Given the description of an element on the screen output the (x, y) to click on. 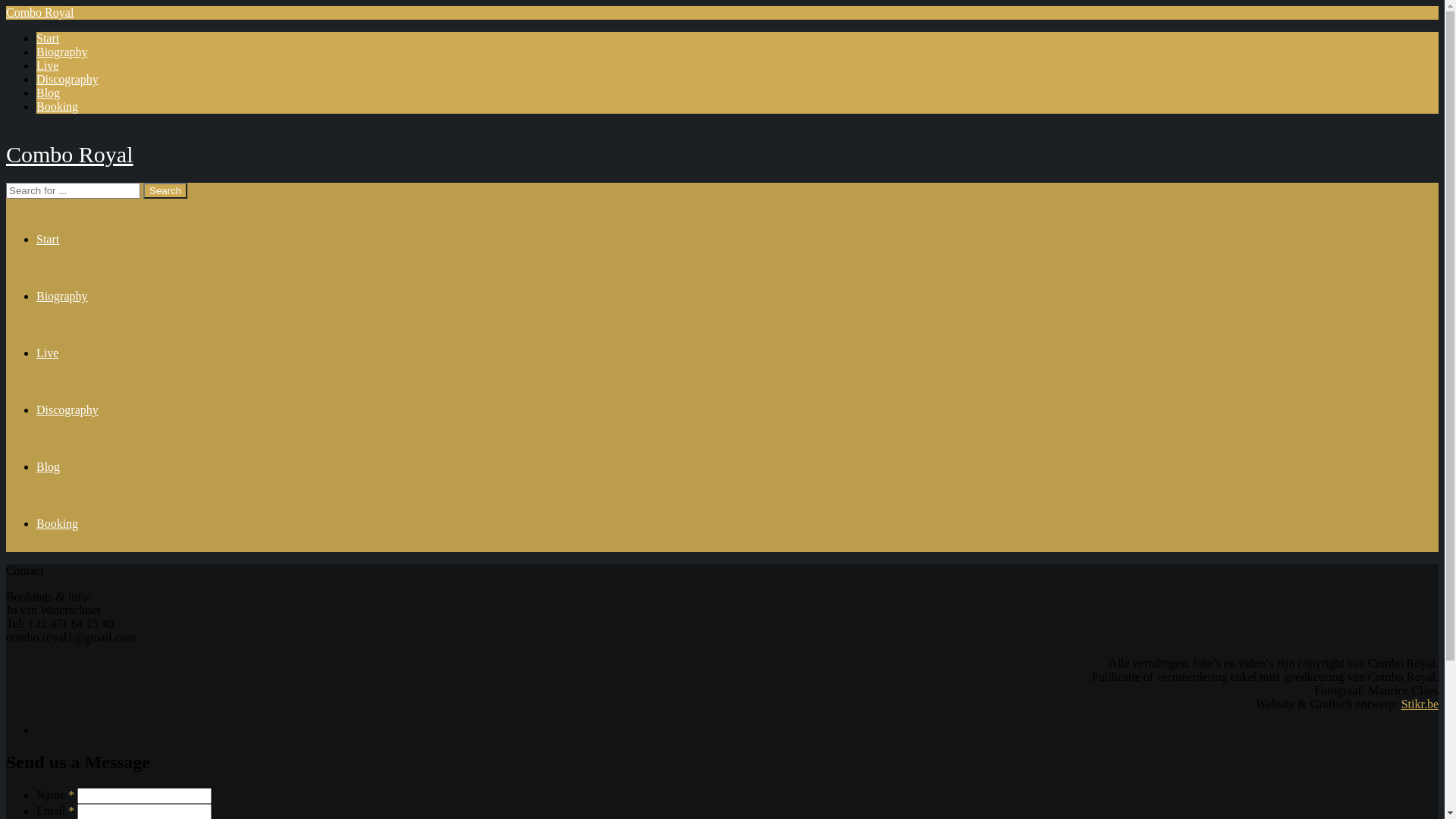
Live Element type: text (47, 352)
Discography Element type: text (67, 78)
Start Element type: text (47, 37)
Blog Element type: text (47, 466)
Combo Royal Element type: text (69, 153)
Booking Element type: text (57, 523)
Search Element type: text (165, 190)
Stikr.be Element type: text (1419, 703)
Search for: Element type: hover (73, 190)
Start Element type: text (47, 238)
Combo Royal Element type: text (39, 12)
Booking Element type: text (57, 106)
Discography Element type: text (67, 409)
Biography Element type: text (61, 295)
Biography Element type: text (61, 51)
Blog Element type: text (47, 92)
Live Element type: text (47, 65)
